Given the description of an element on the screen output the (x, y) to click on. 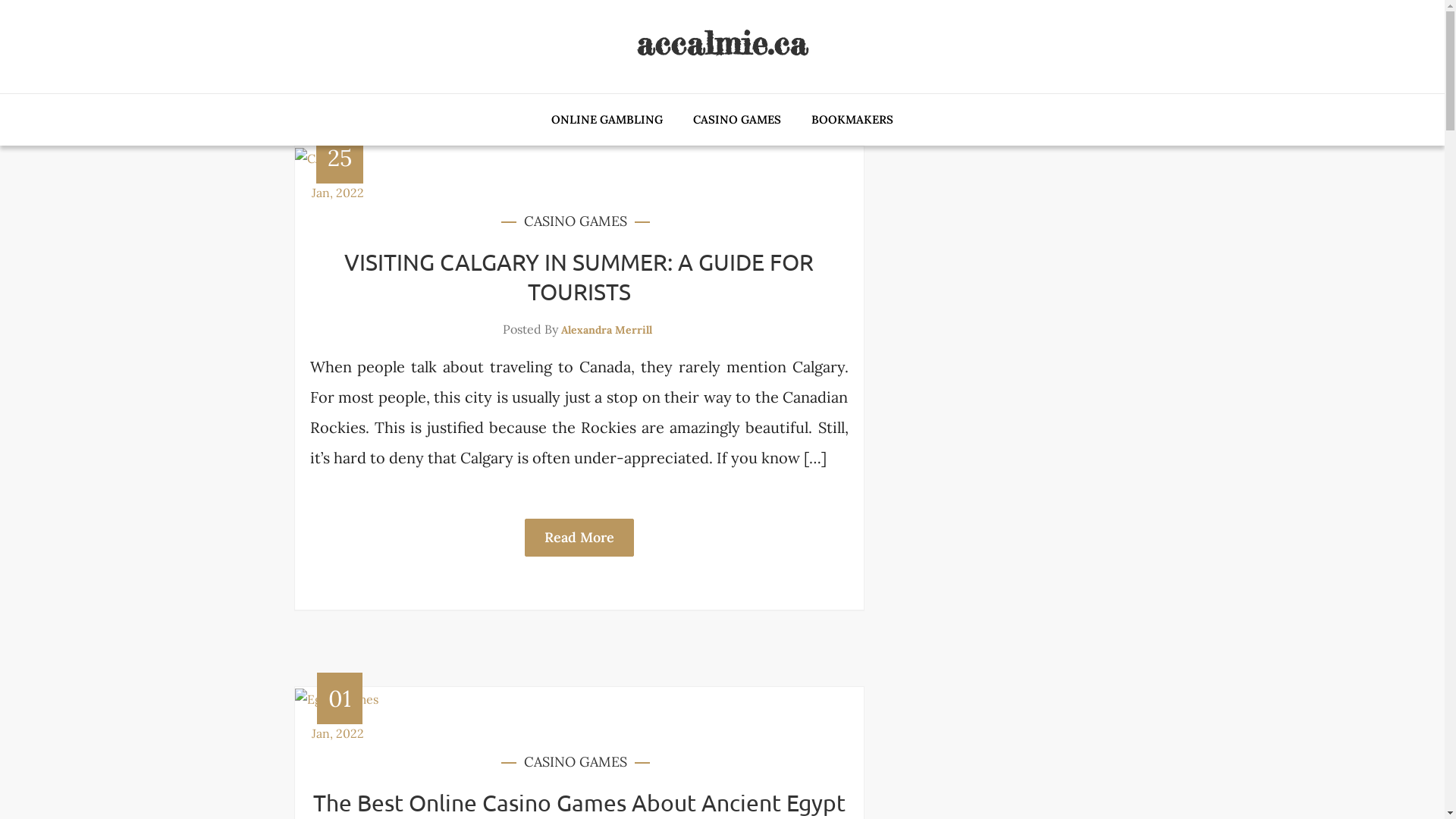
VISITING CALGARY IN SUMMER: A GUIDE FOR TOURISTS Element type: text (578, 276)
CASINO GAMES Element type: text (574, 761)
accalmie.ca Element type: text (721, 42)
BOOKMAKERS Element type: text (851, 119)
25 Jan, 2022 Element type: text (336, 176)
Read More Element type: text (578, 537)
01 Jan, 2022 Element type: text (336, 717)
CASINO GAMES Element type: text (574, 221)
The Best Online Casino Games About Ancient Egypt Element type: text (578, 802)
ONLINE GAMBLING Element type: text (606, 119)
CASINO GAMES Element type: text (736, 119)
Alexandra Merrill Element type: text (606, 329)
